Given the description of an element on the screen output the (x, y) to click on. 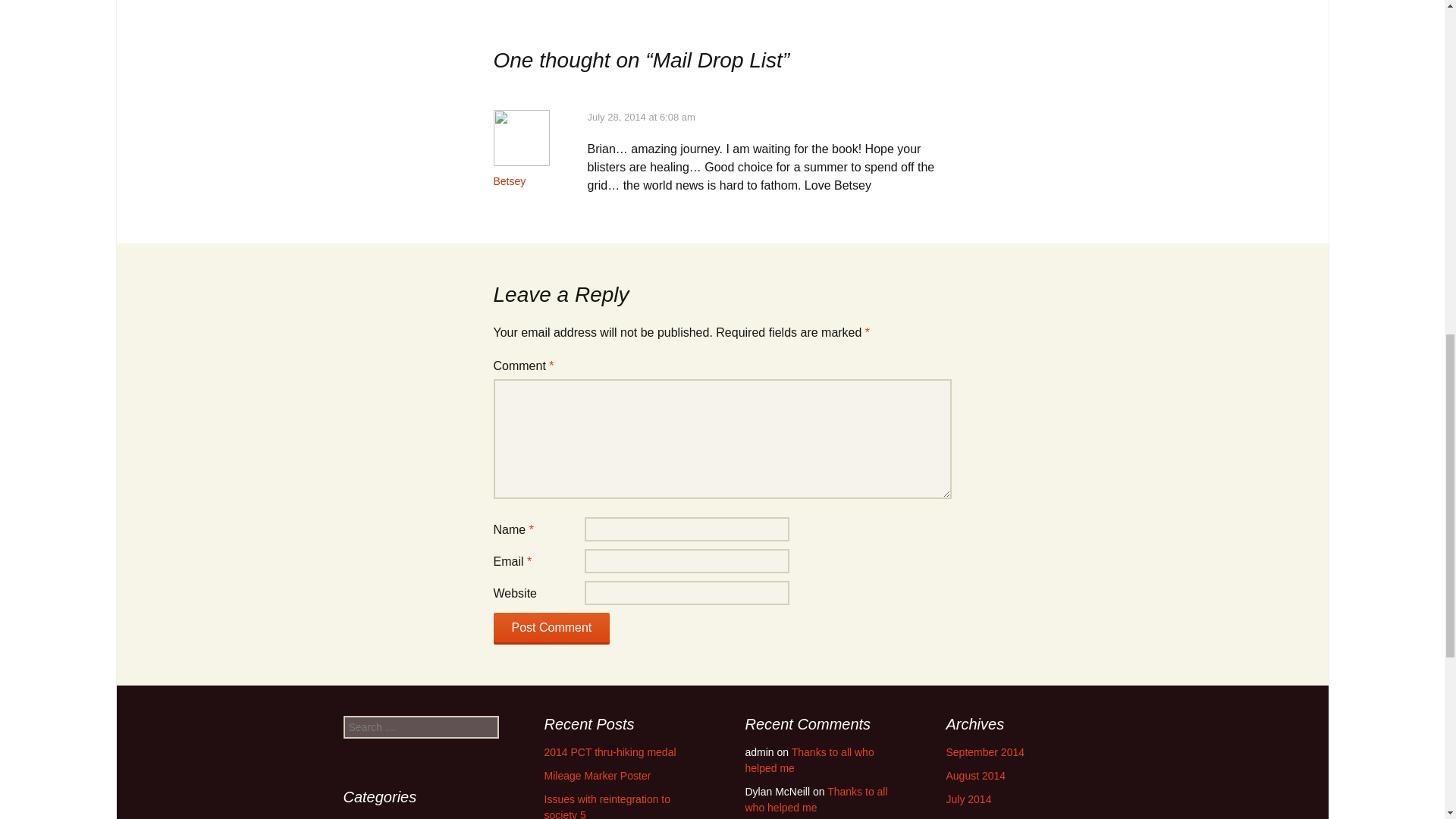
August 2014 (976, 775)
Thanks to all who helped me (808, 759)
September 2014 (985, 752)
Issues with reintegration to society 5 (607, 806)
Post Comment (551, 628)
2014 PCT thru-hiking medal (610, 752)
July 2014 (968, 799)
June 2014 (970, 817)
Mileage Marker Poster (597, 775)
July 28, 2014 at 6:08 am (640, 116)
Thanks to all who helped me (815, 799)
Post Comment (551, 628)
